Given the description of an element on the screen output the (x, y) to click on. 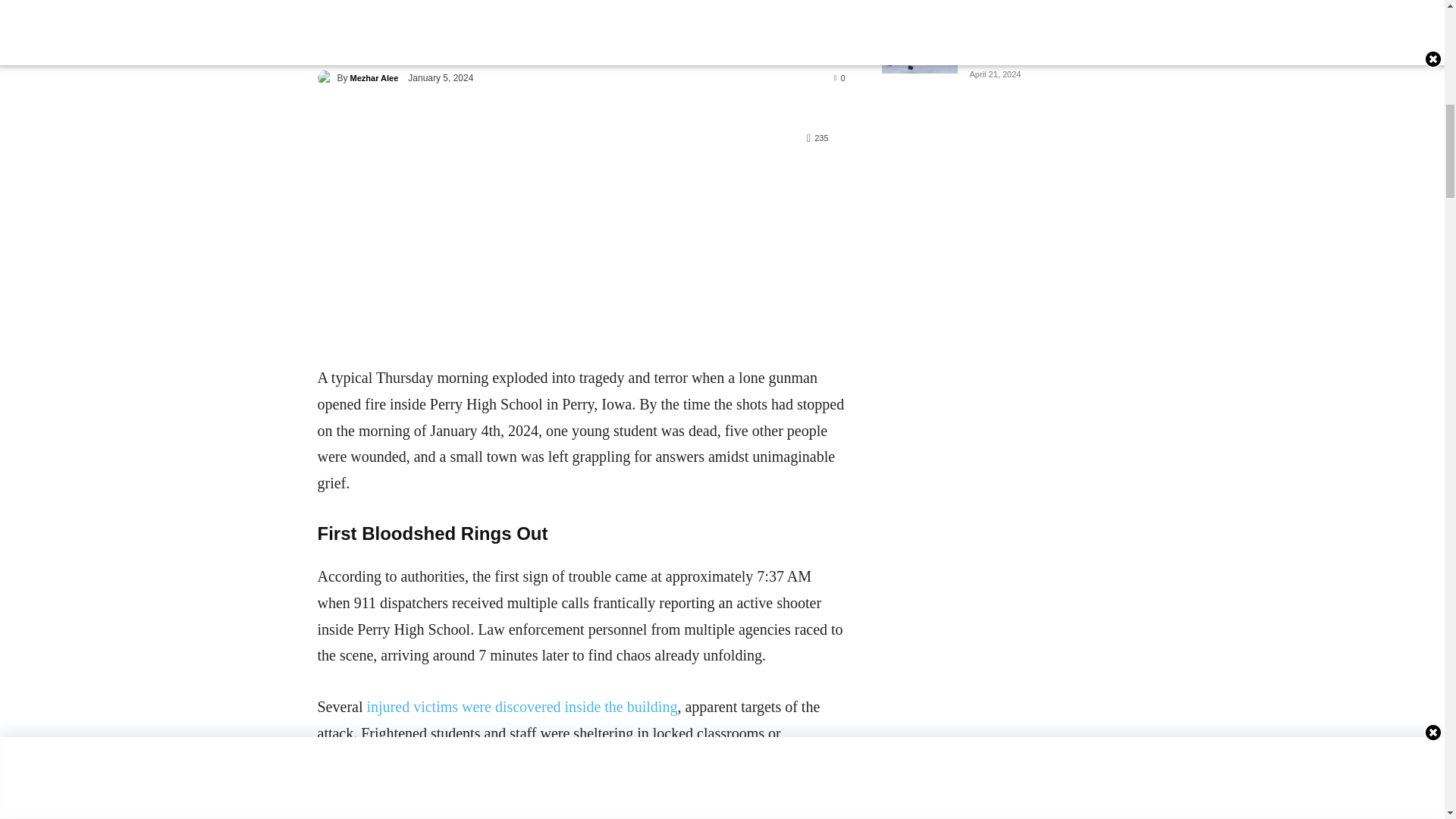
injured victims were discovered inside the building (521, 706)
Mezhar Alee (374, 77)
Mezhar Alee (326, 77)
Advertisement (561, 220)
0 (839, 76)
